Given the description of an element on the screen output the (x, y) to click on. 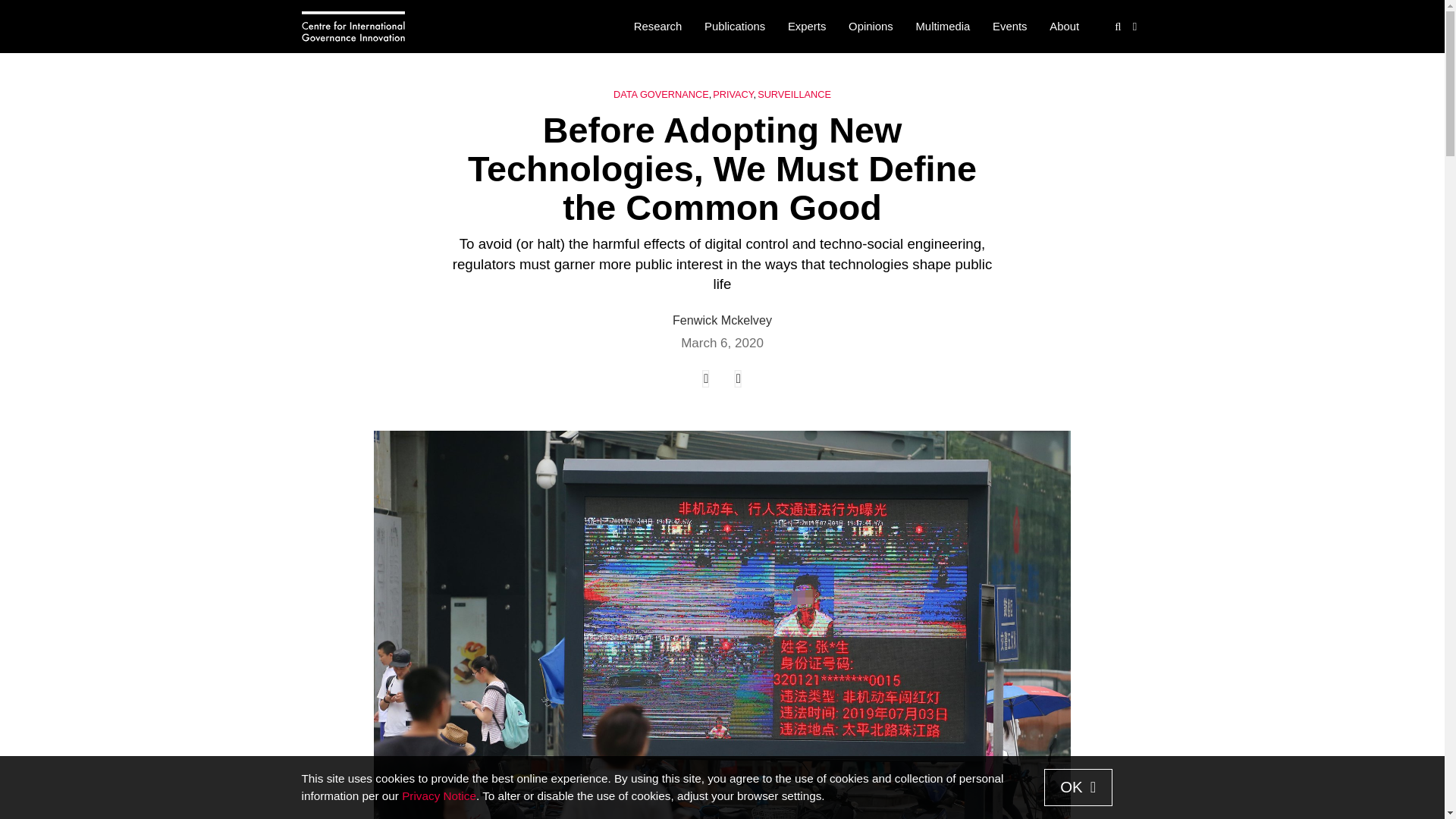
About (1064, 27)
Opinions (870, 27)
Experts (806, 27)
Events (1009, 27)
Publications (734, 27)
Research (658, 27)
Multimedia (942, 27)
